Given the description of an element on the screen output the (x, y) to click on. 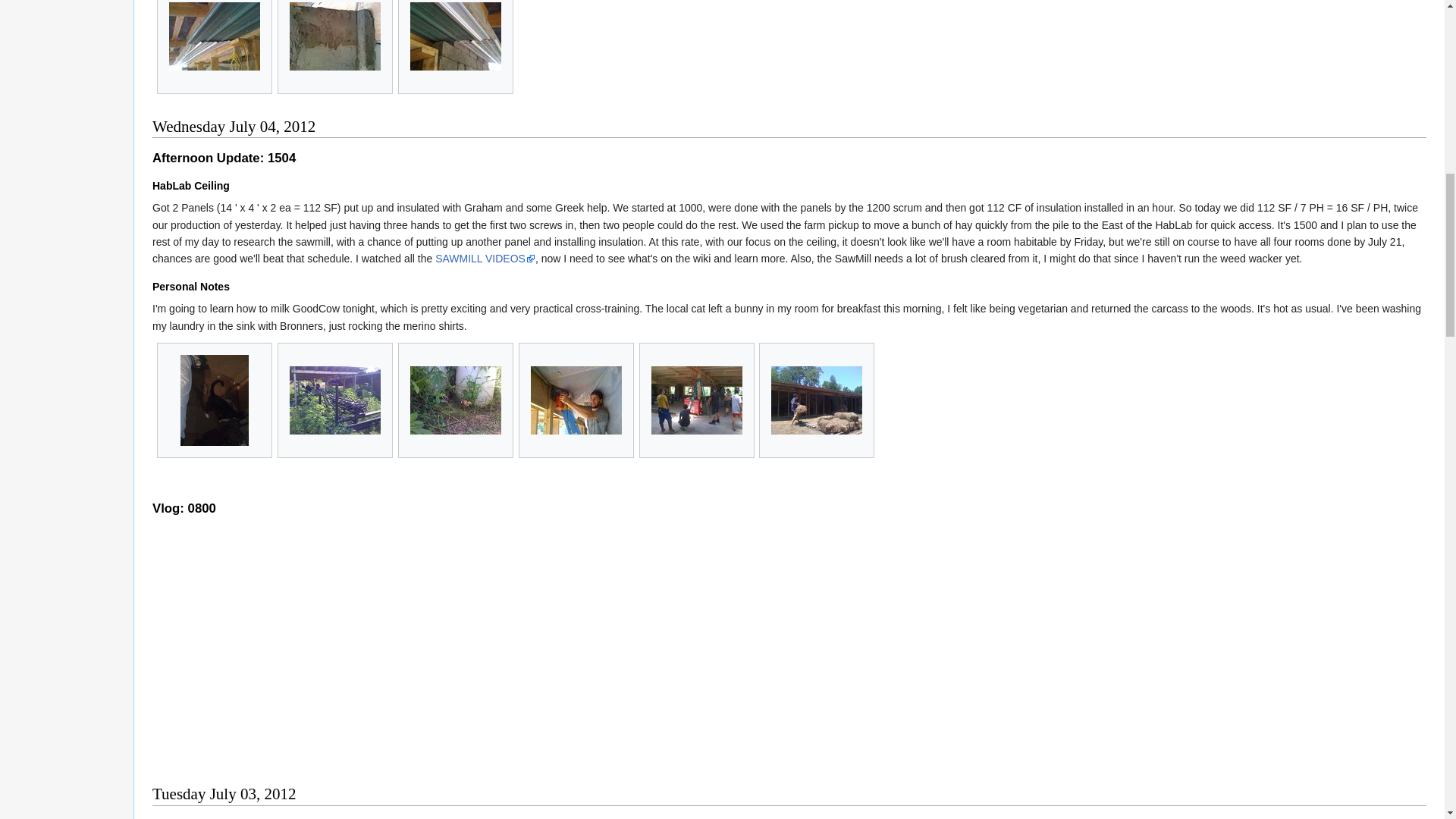
SAWMILL VIDEOS (485, 258)
